Given the description of an element on the screen output the (x, y) to click on. 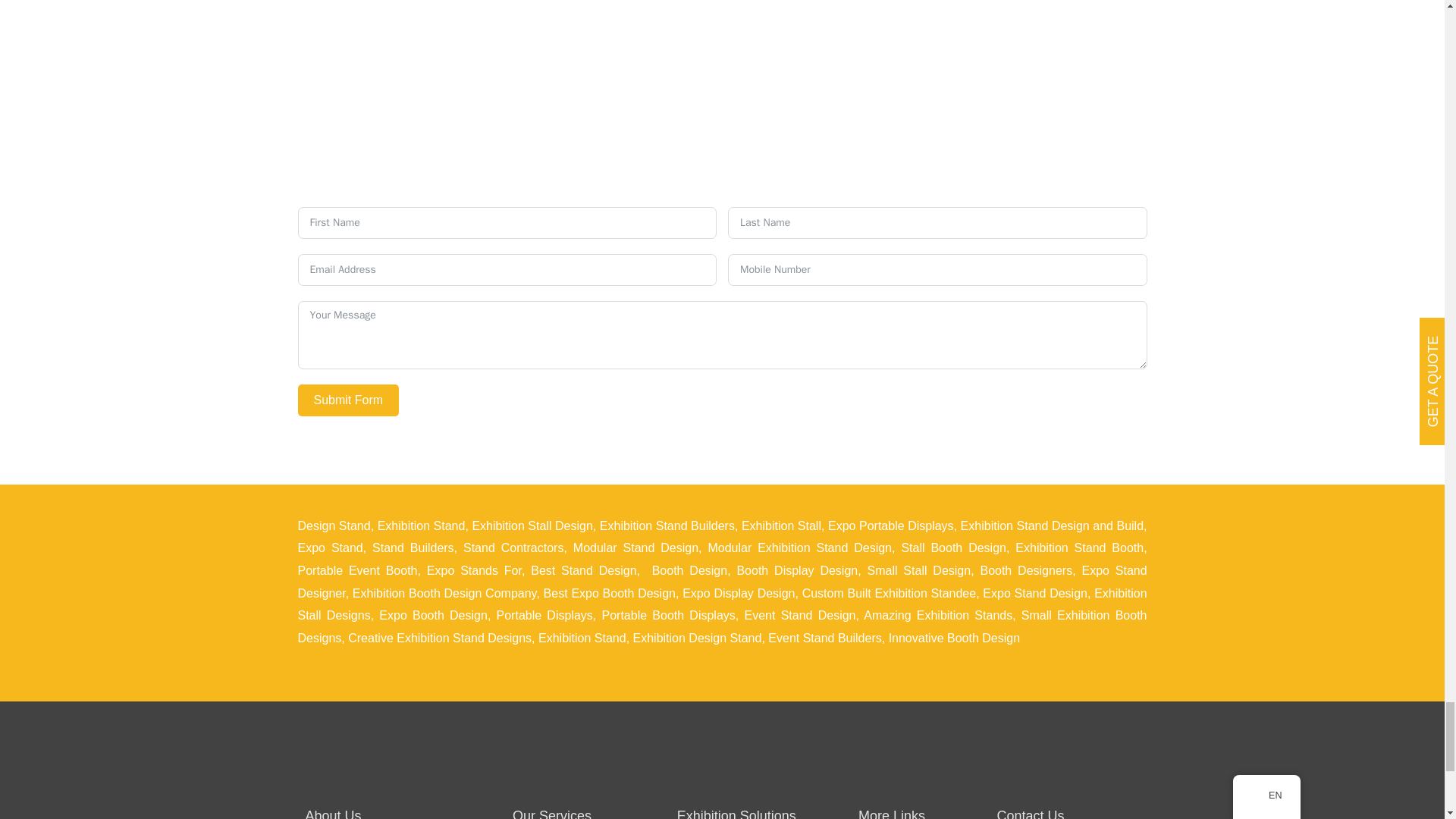
Exhibition Stand (421, 525)
Design Stand (333, 525)
Exhibition Stall Design (531, 525)
Exhibition Stand Builders (667, 525)
Submit Form (347, 400)
